Given the description of an element on the screen output the (x, y) to click on. 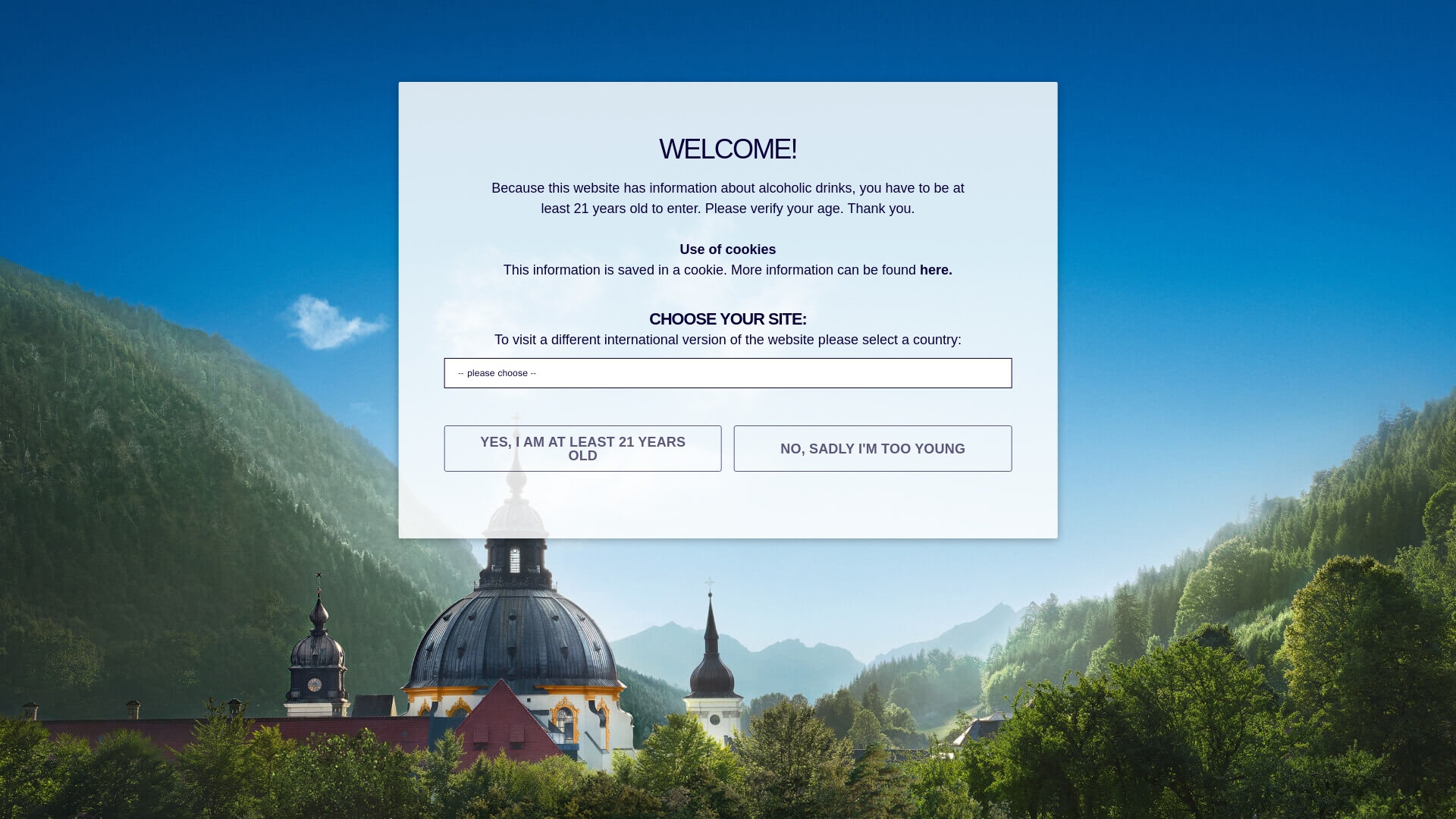
here. (936, 269)
YES, I AM AT LEAST 21 YEARS OLD (583, 448)
COMMITMENT (1009, 515)
OUR BEERS (487, 515)
EXPERIENCE THE GOOD LIFE (840, 515)
OUR HISTORY (377, 515)
LIFE AT THE MONASTERY (637, 515)
NO, SADLY I'M TOO YOUNG (872, 448)
SHOP (1103, 515)
